Given the description of an element on the screen output the (x, y) to click on. 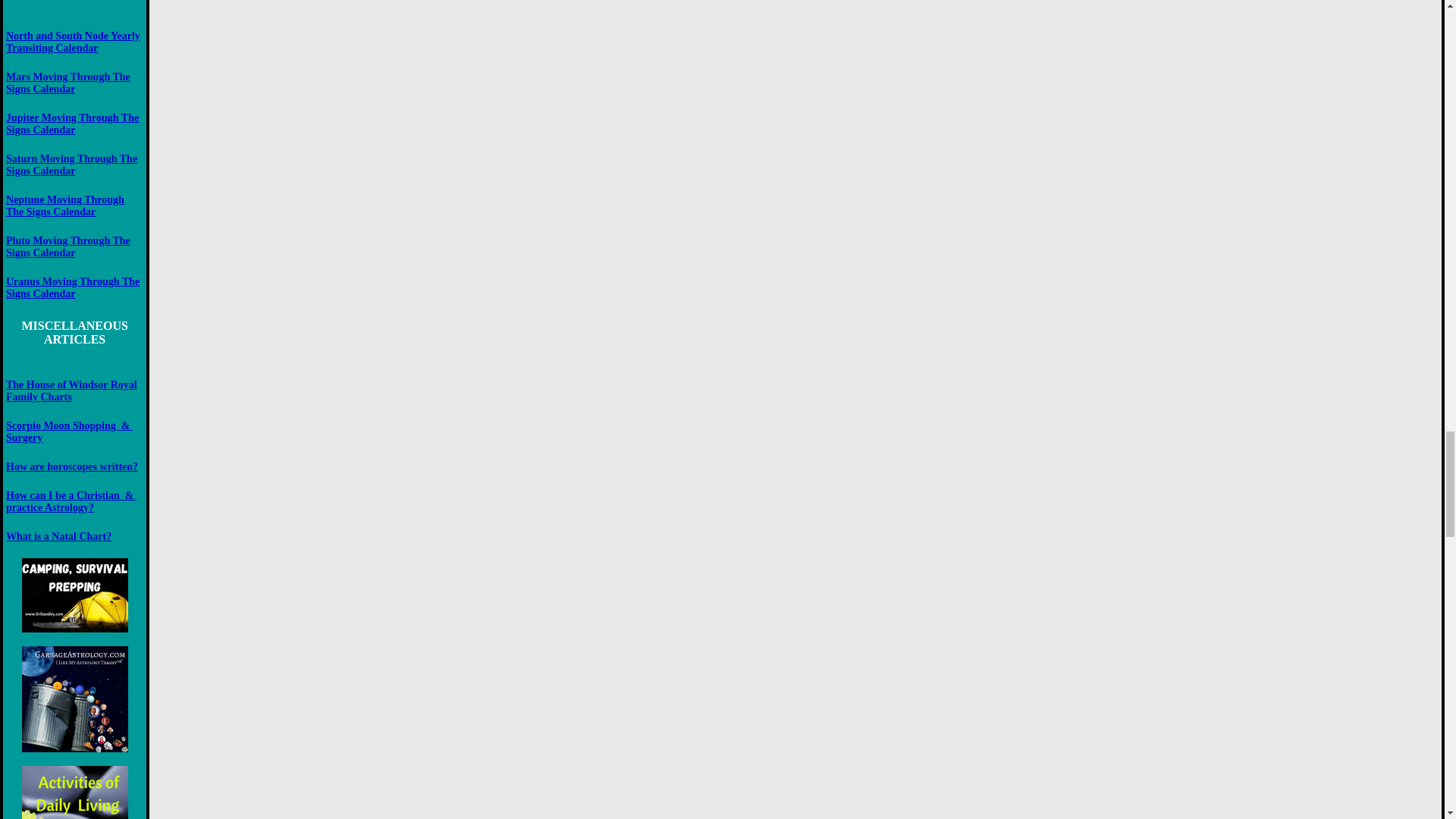
Garbage Astrology - because I like my Astrology trashy. (74, 699)
Camping, Survival and Prepping (74, 594)
